Given the description of an element on the screen output the (x, y) to click on. 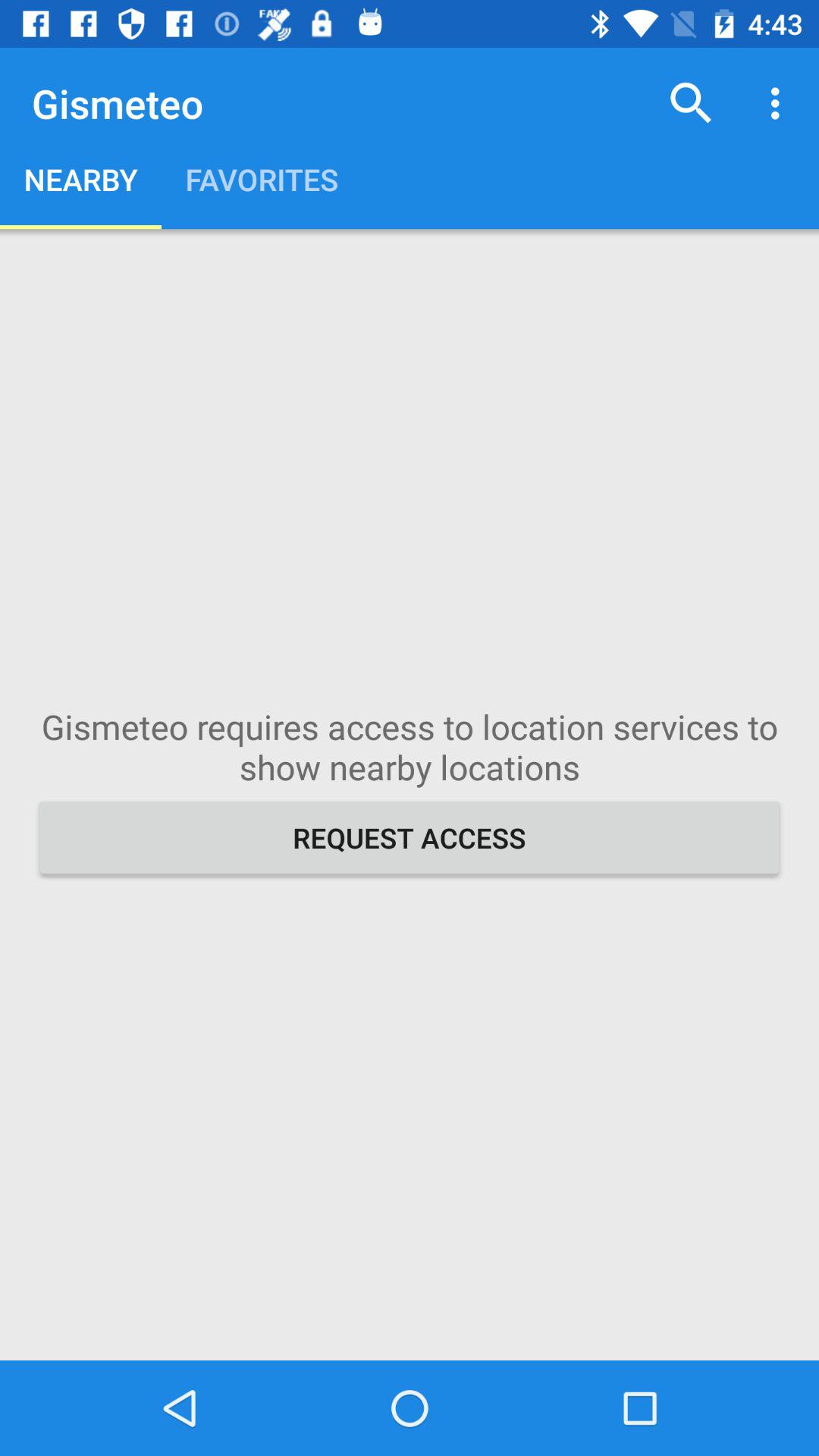
swipe to the request access item (409, 837)
